Given the description of an element on the screen output the (x, y) to click on. 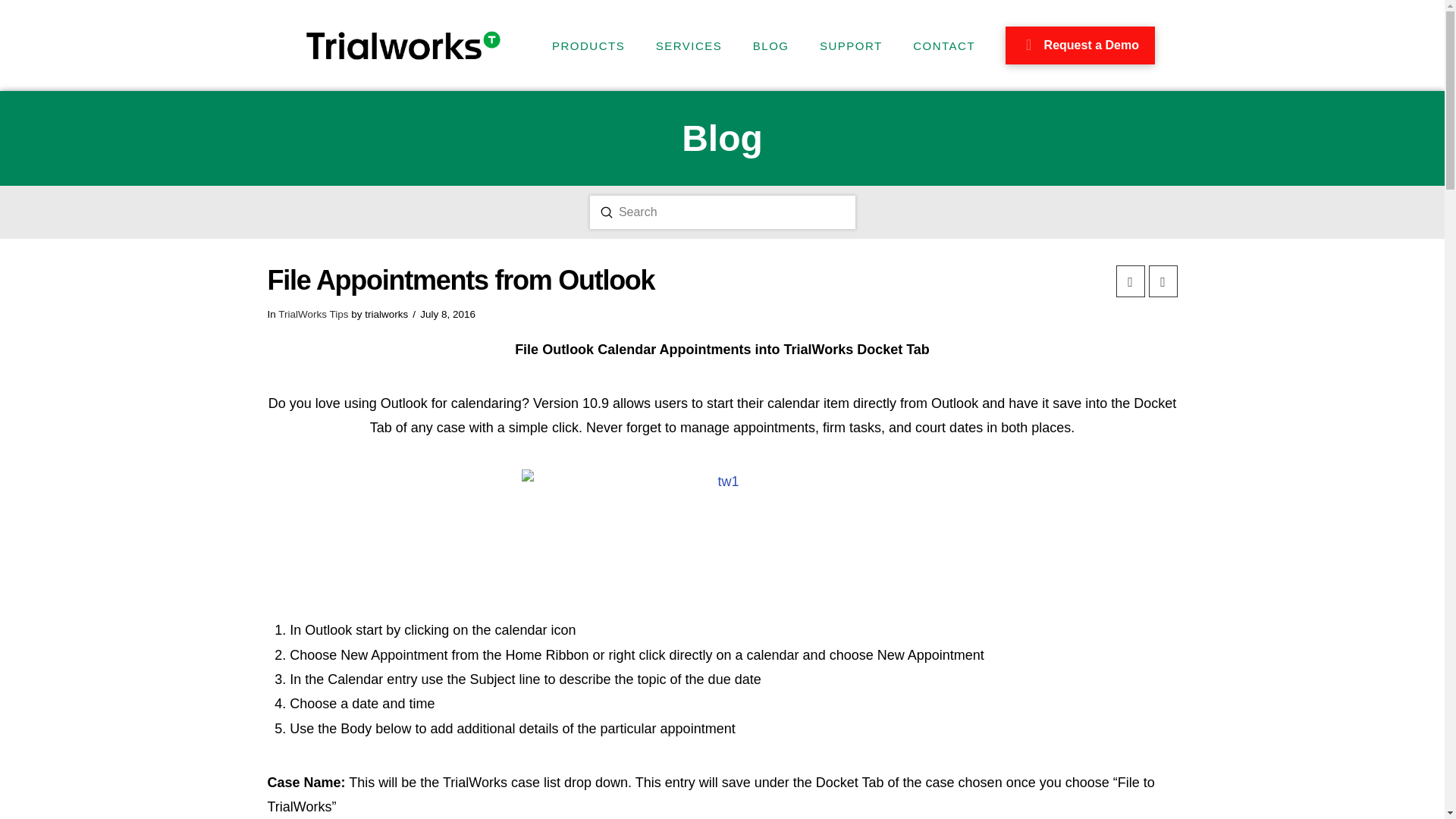
BLOG (769, 45)
SERVICES (688, 45)
SUPPORT (849, 45)
PRODUCTS (587, 45)
Submit (605, 212)
Request a Demo (1080, 45)
CONTACT (943, 45)
TrialWorks Tips (312, 314)
